Given the description of an element on the screen output the (x, y) to click on. 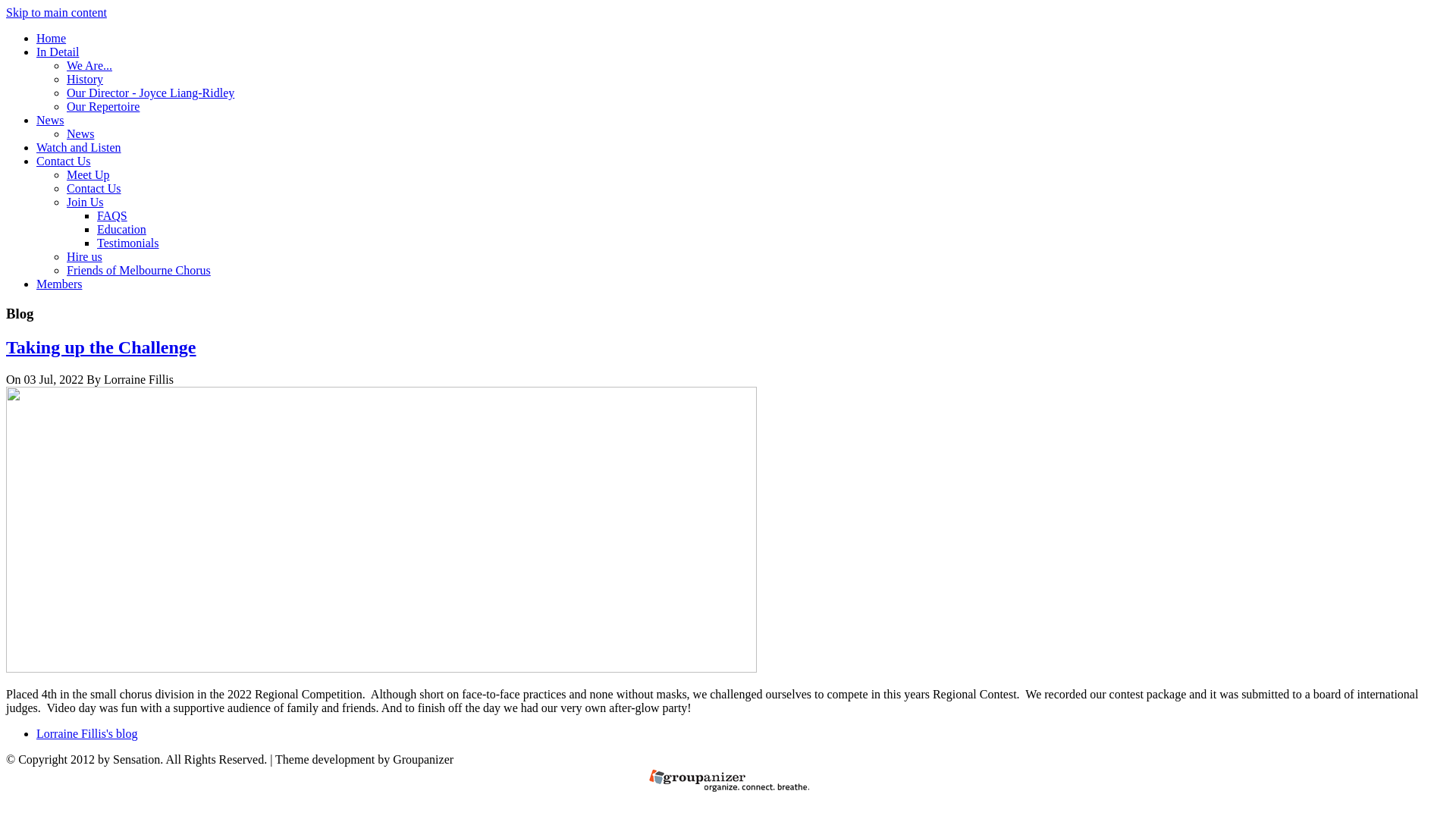
Home Element type: text (50, 37)
Contact Us Element type: text (63, 160)
Education Element type: text (121, 228)
Skip to main content Element type: text (56, 12)
History Element type: text (84, 78)
In Detail Element type: text (57, 51)
Testimonials Element type: text (128, 242)
Hire us Element type: text (84, 256)
Contact Us Element type: text (93, 188)
Our Director - Joyce Liang-Ridley Element type: text (150, 92)
FAQS Element type: text (112, 215)
News Element type: text (80, 133)
Taking up the Challenge Element type: text (101, 347)
Our Repertoire Element type: text (102, 106)
News Element type: text (49, 119)
Lorraine Fillis's blog Element type: text (87, 733)
We Are... Element type: text (89, 65)
Watch and Listen Element type: text (78, 147)
Join Us Element type: text (84, 201)
Members Element type: text (58, 283)
Friends of Melbourne Chorus Element type: text (138, 269)
Meet Up Element type: text (87, 174)
